Given the description of an element on the screen output the (x, y) to click on. 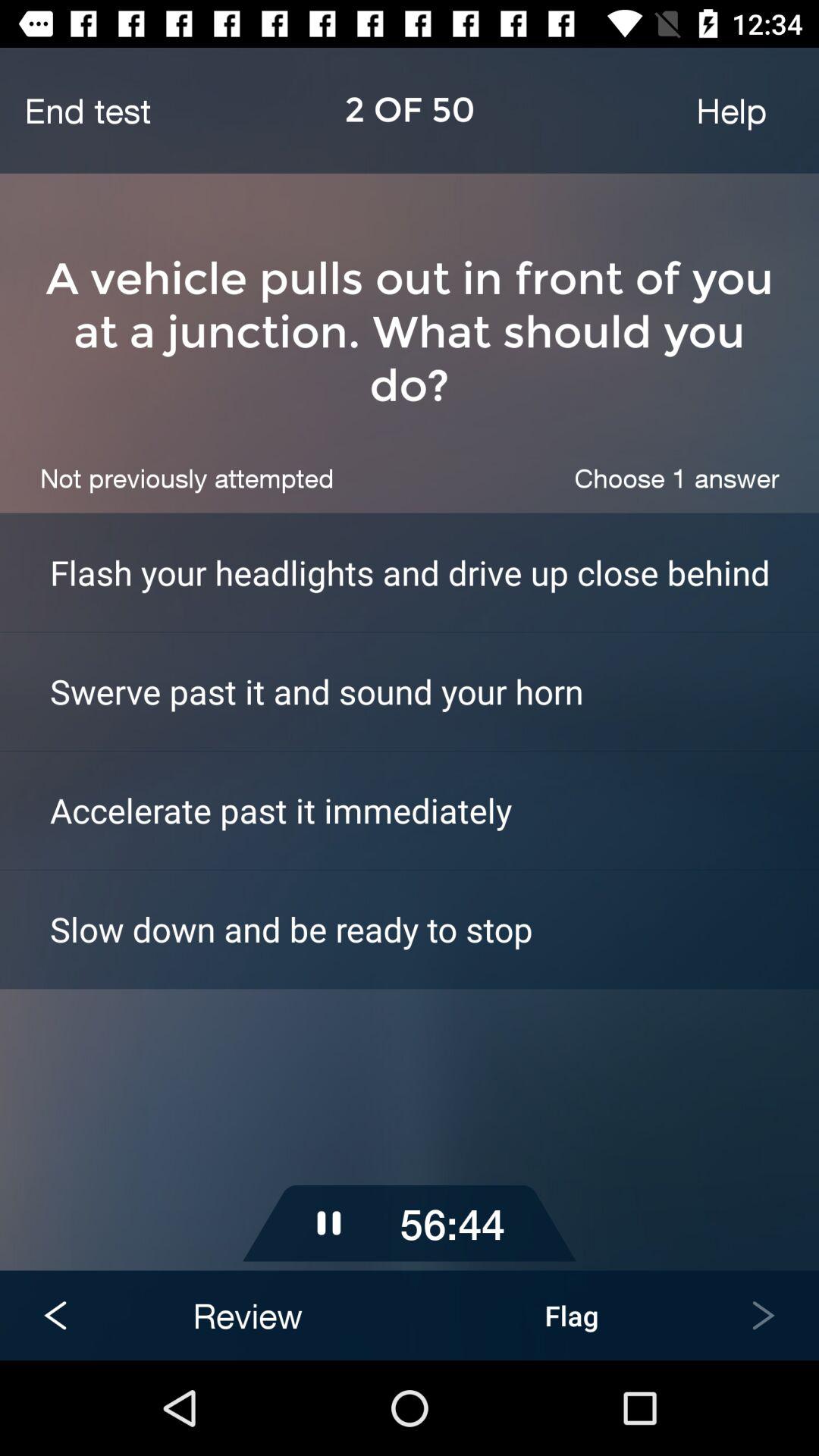
select icon below accelerate past it item (434, 929)
